Given the description of an element on the screen output the (x, y) to click on. 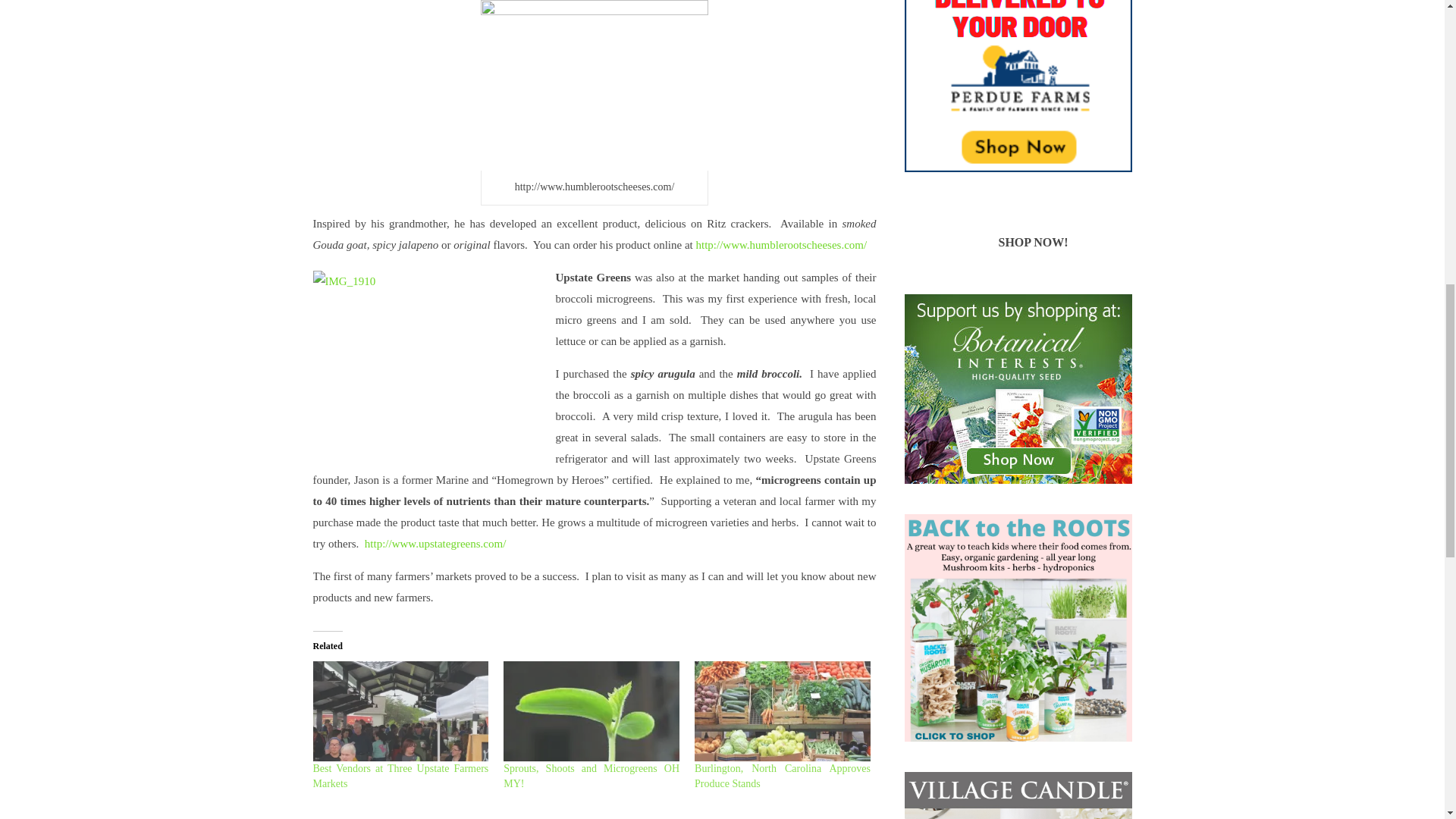
Best Vendors at Three Upstate Farmers Markets (400, 710)
Sprouts, Shoots and Microgreens OH MY! (591, 710)
Burlington, North Carolina Approves Produce Stands (782, 710)
Sprouts, Shoots and Microgreens OH MY! (591, 775)
Burlington, North Carolina Approves Produce Stands (782, 775)
Best Vendors at Three Upstate Farmers Markets (400, 775)
